Given the description of an element on the screen output the (x, y) to click on. 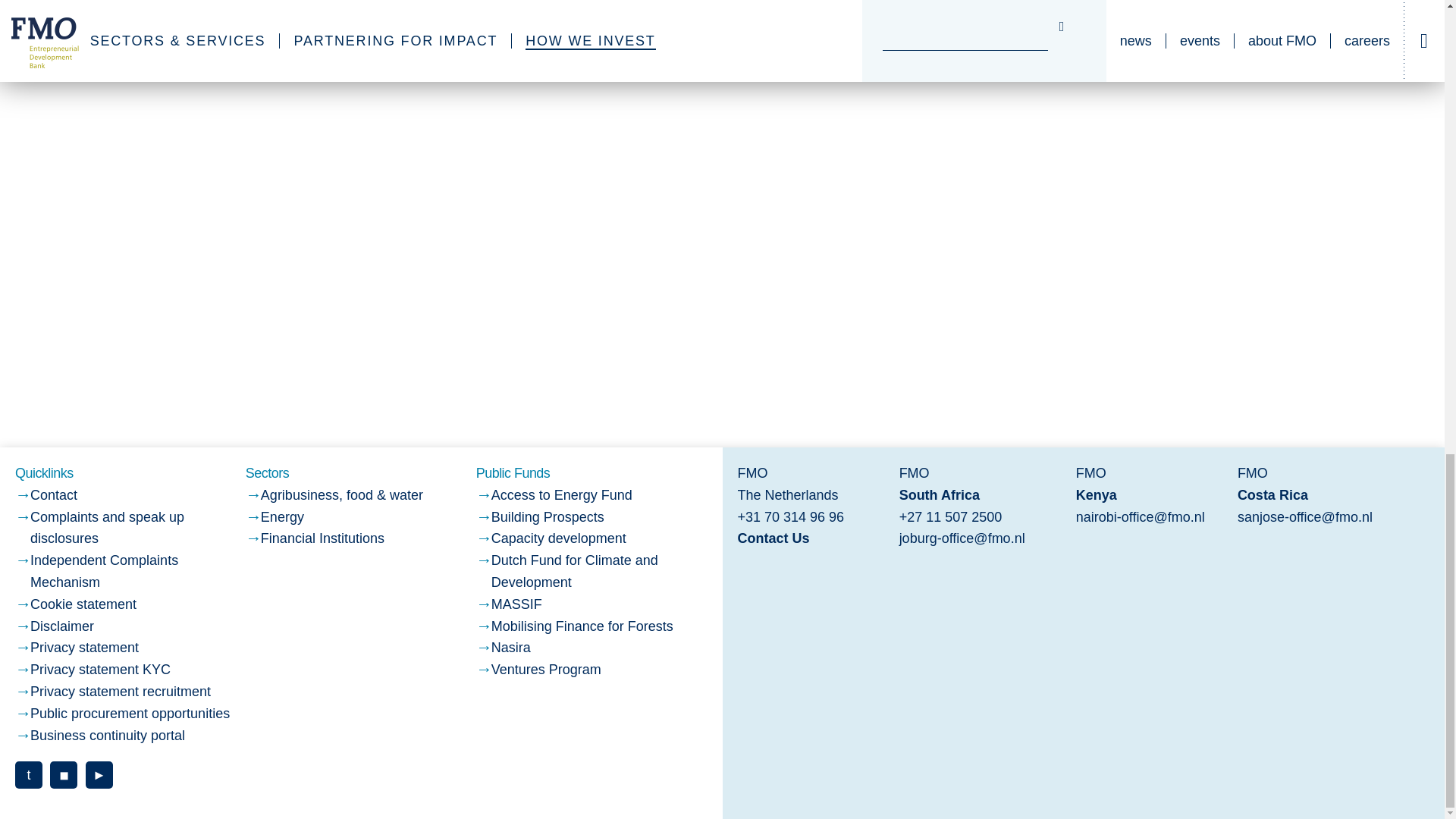
Cookie statement (83, 604)
Complaints and speak up disclosures (107, 528)
Contact (53, 494)
Independent Complaints Mechanism (103, 570)
